Given the description of an element on the screen output the (x, y) to click on. 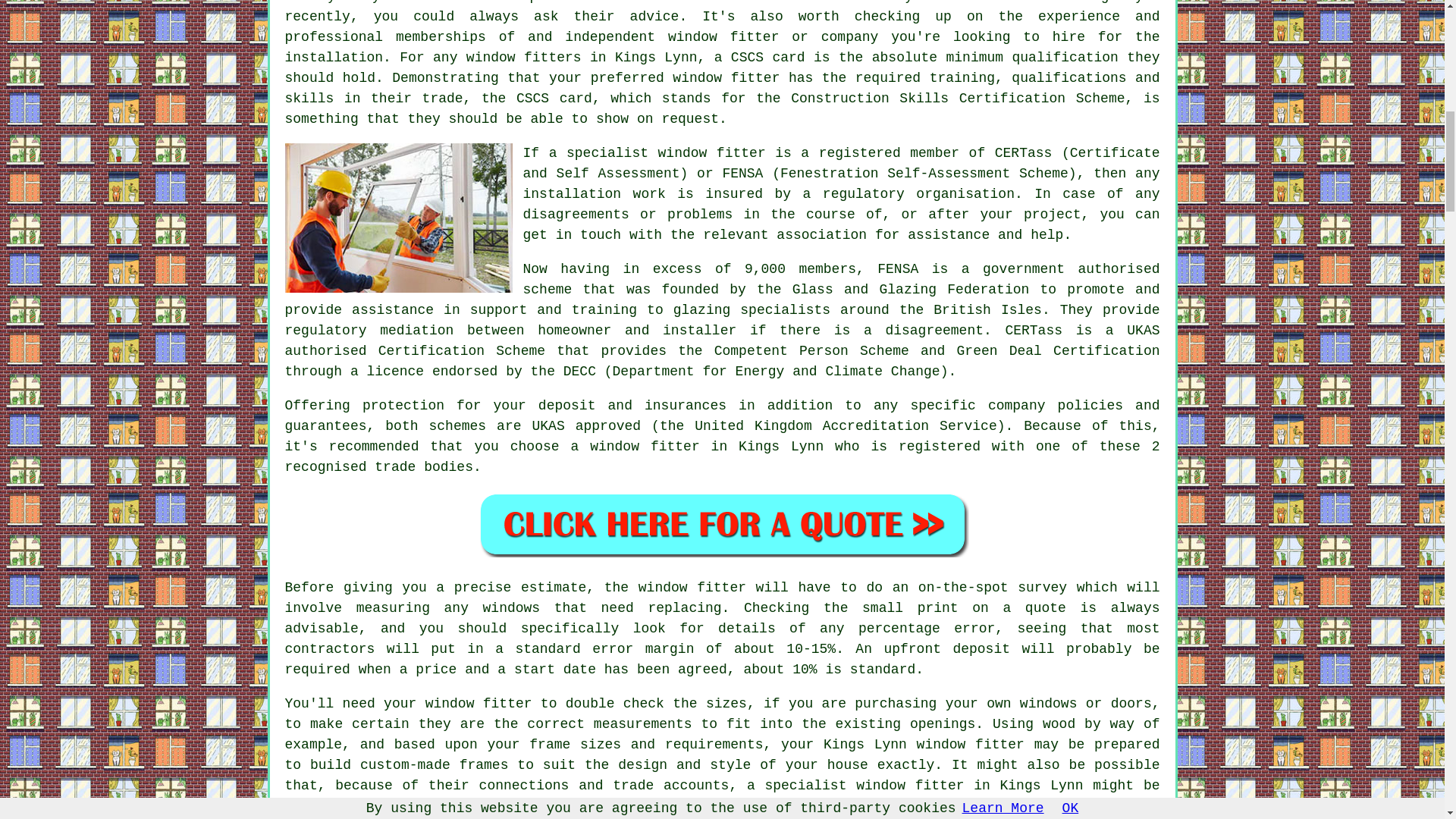
Window Fitters Quotes in Kings Lynn Norfolk (722, 524)
